Given the description of an element on the screen output the (x, y) to click on. 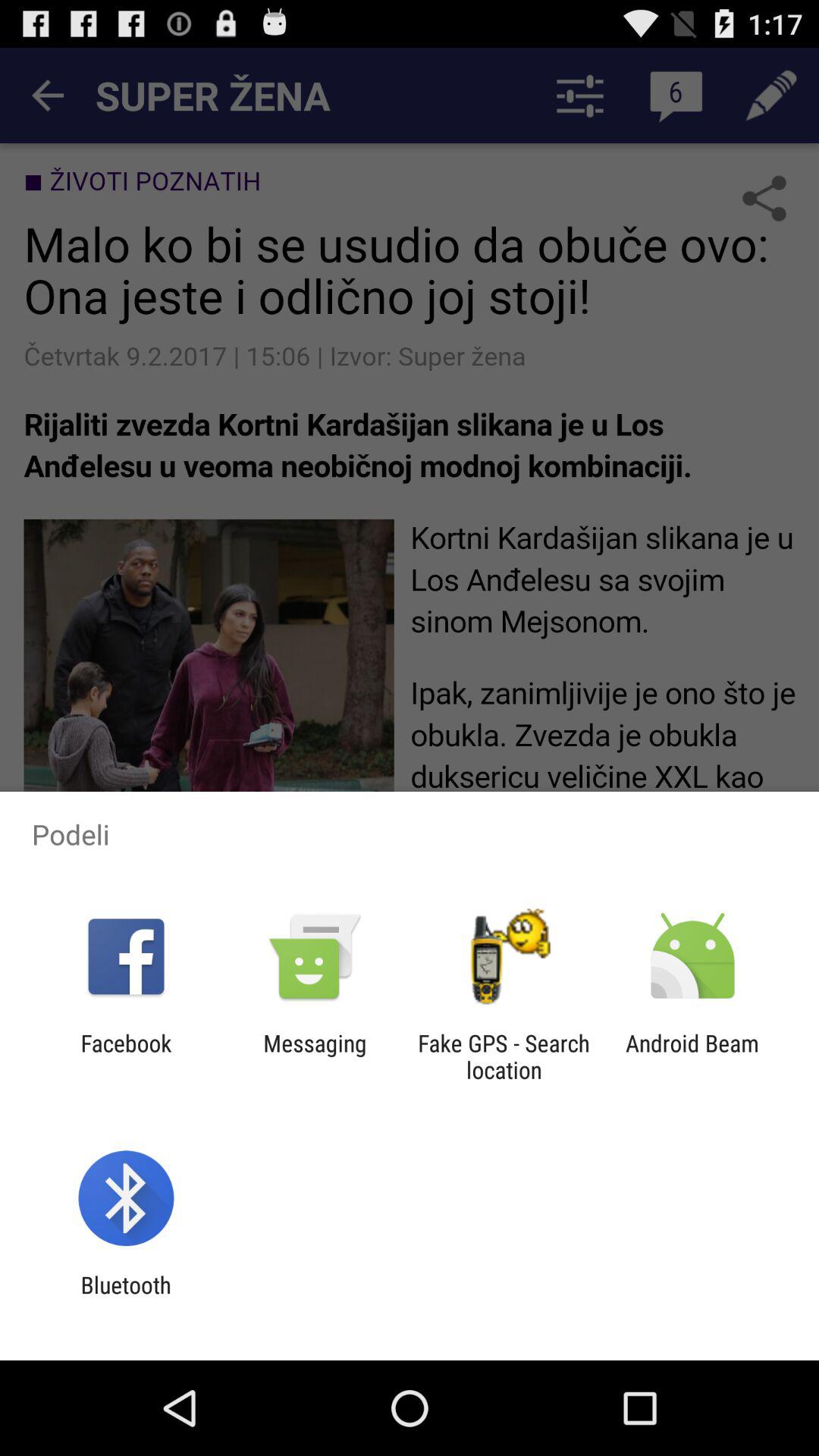
turn on android beam at the bottom right corner (692, 1056)
